Given the description of an element on the screen output the (x, y) to click on. 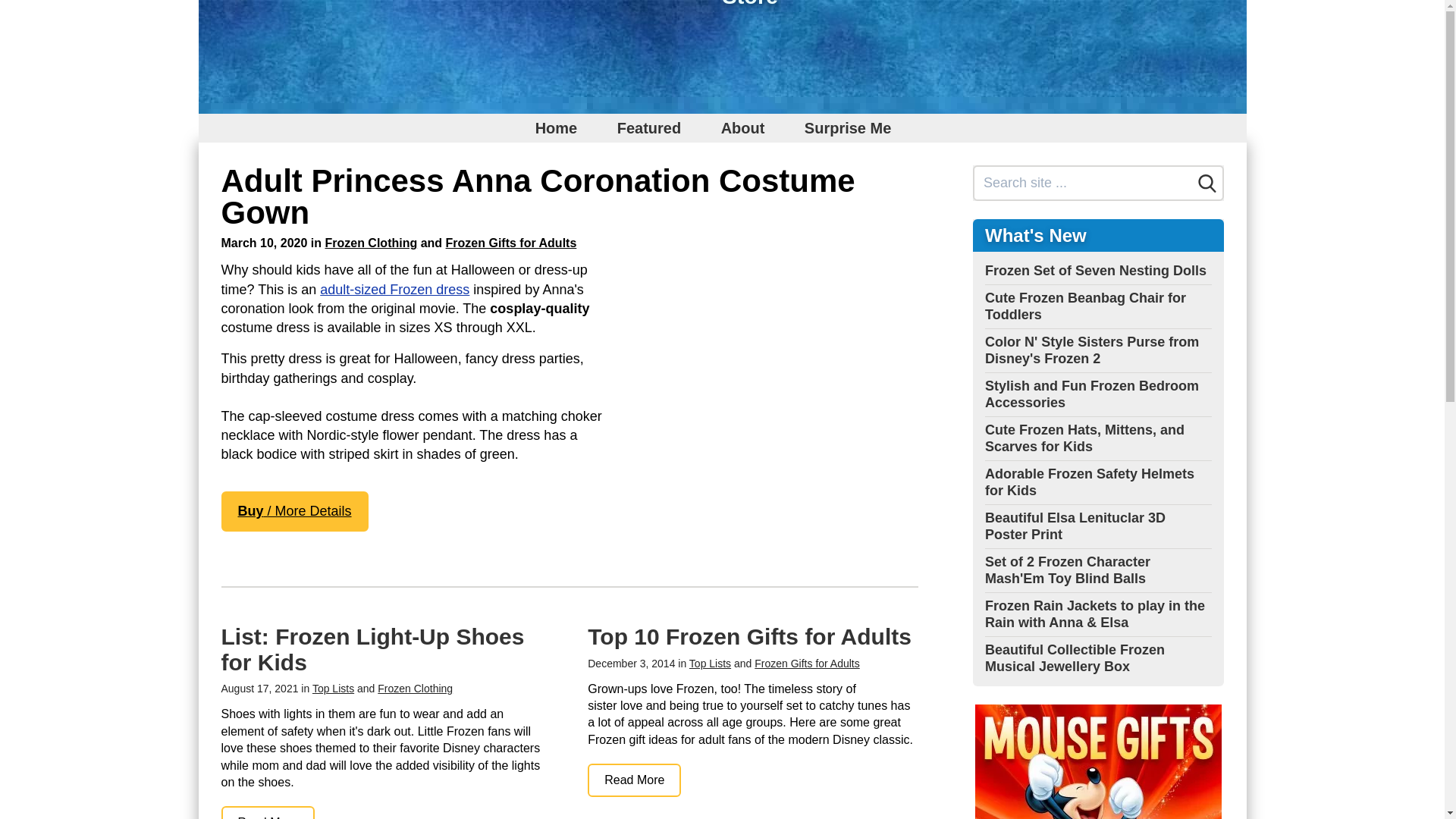
Top Lists (333, 688)
Frozen Set of Seven Nesting Dolls (1096, 270)
Stylish and Fun Frozen Bedroom Accessories (1091, 393)
Top 10 Frozen Gifts for Adults (634, 779)
Surprise Me (847, 127)
Cute Frozen Beanbag Chair for Toddlers (1085, 305)
Read More (634, 779)
adult-sized Frozen dress (394, 289)
Frozen Clothing (414, 688)
Frozen Gifts for Adults (510, 242)
